Given the description of an element on the screen output the (x, y) to click on. 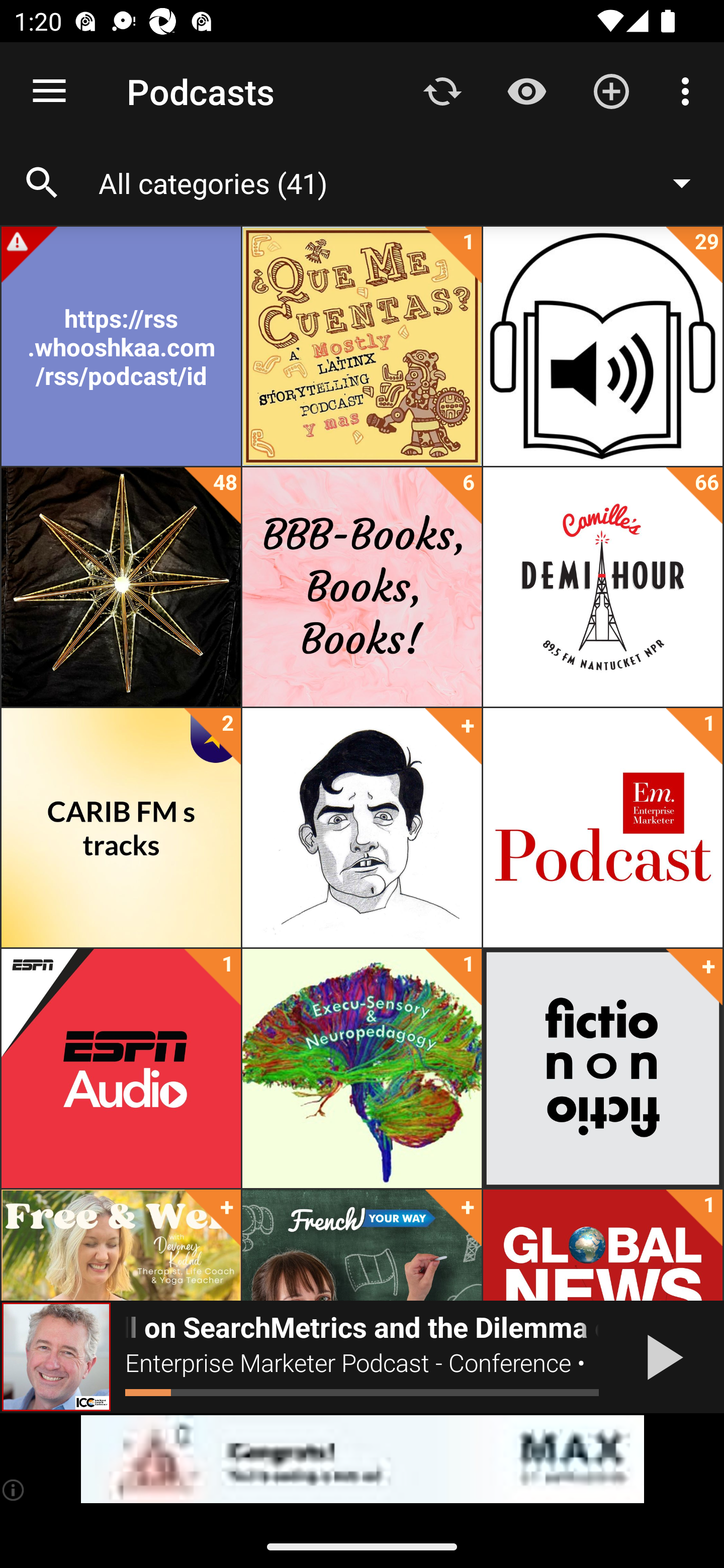
Open navigation sidebar (49, 91)
Update (442, 90)
Show / Hide played content (526, 90)
Add new Podcast (611, 90)
More options (688, 90)
Search (42, 183)
All categories (41) (404, 182)
https://rss.whooshkaa.com/rss/podcast/id/5884 (121, 346)
¿Qué Me Cuentas?: Latinx Storytelling 1 (361, 346)
Audiobooks 29 (602, 346)
Audiobooks 48 (121, 587)
BBB-Books, Books, Books! 6 (361, 587)
Camille's Demi-Hour - NANTUCKET NPR 66 (602, 587)
CARIB FM's tracks 2 (121, 827)
Cooking Issues with Dave Arnold + (361, 827)
Enterprise Marketer Podcast - Conference 1 (602, 827)
ESPN Audio 1 (121, 1068)
fiction/non/fiction + (602, 1068)
Play / Pause (660, 1356)
app-monetization (362, 1459)
(i) (14, 1489)
